Given the description of an element on the screen output the (x, y) to click on. 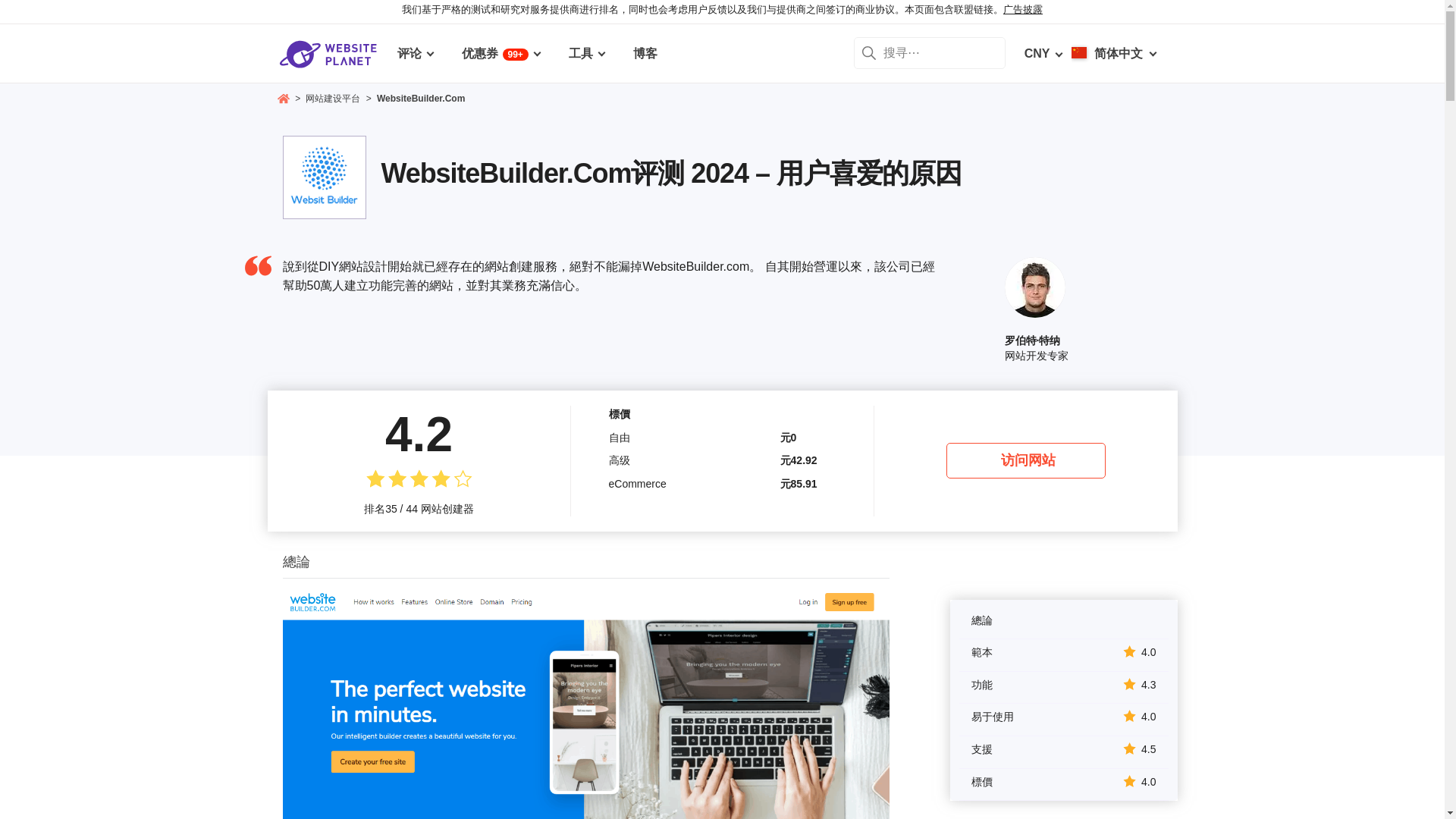
Search (868, 52)
Search (868, 52)
